Given the description of an element on the screen output the (x, y) to click on. 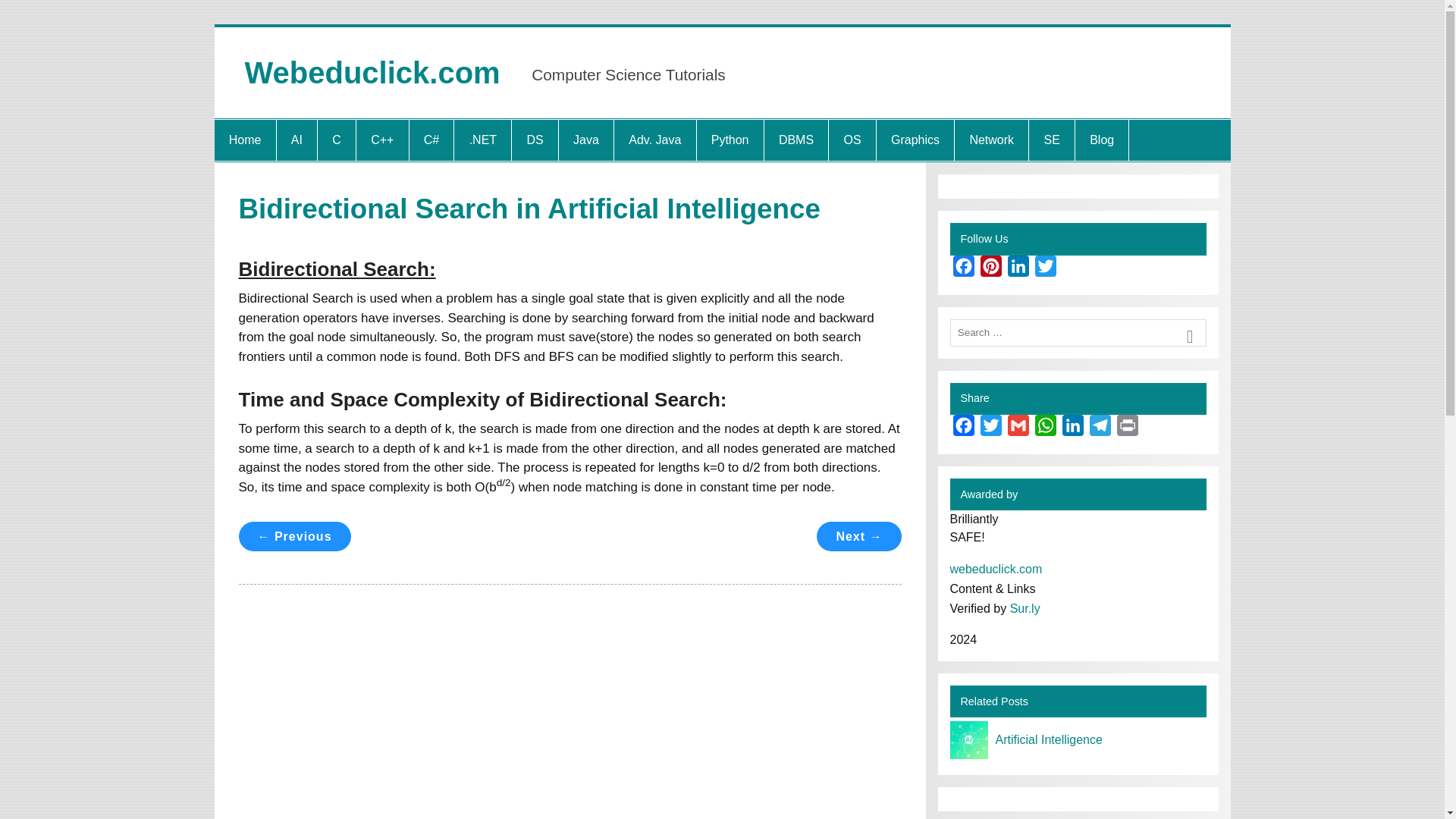
LinkedIn (1072, 428)
Webeduclick.com (371, 72)
Facebook (962, 428)
Twitter (990, 428)
Print (1126, 428)
Home (244, 139)
Gmail (1017, 428)
C (336, 139)
LinkedIn Company (1017, 268)
WhatsApp (1044, 428)
AI (296, 139)
Pinterest (990, 268)
Telegram (1099, 428)
Facebook (962, 268)
